Given the description of an element on the screen output the (x, y) to click on. 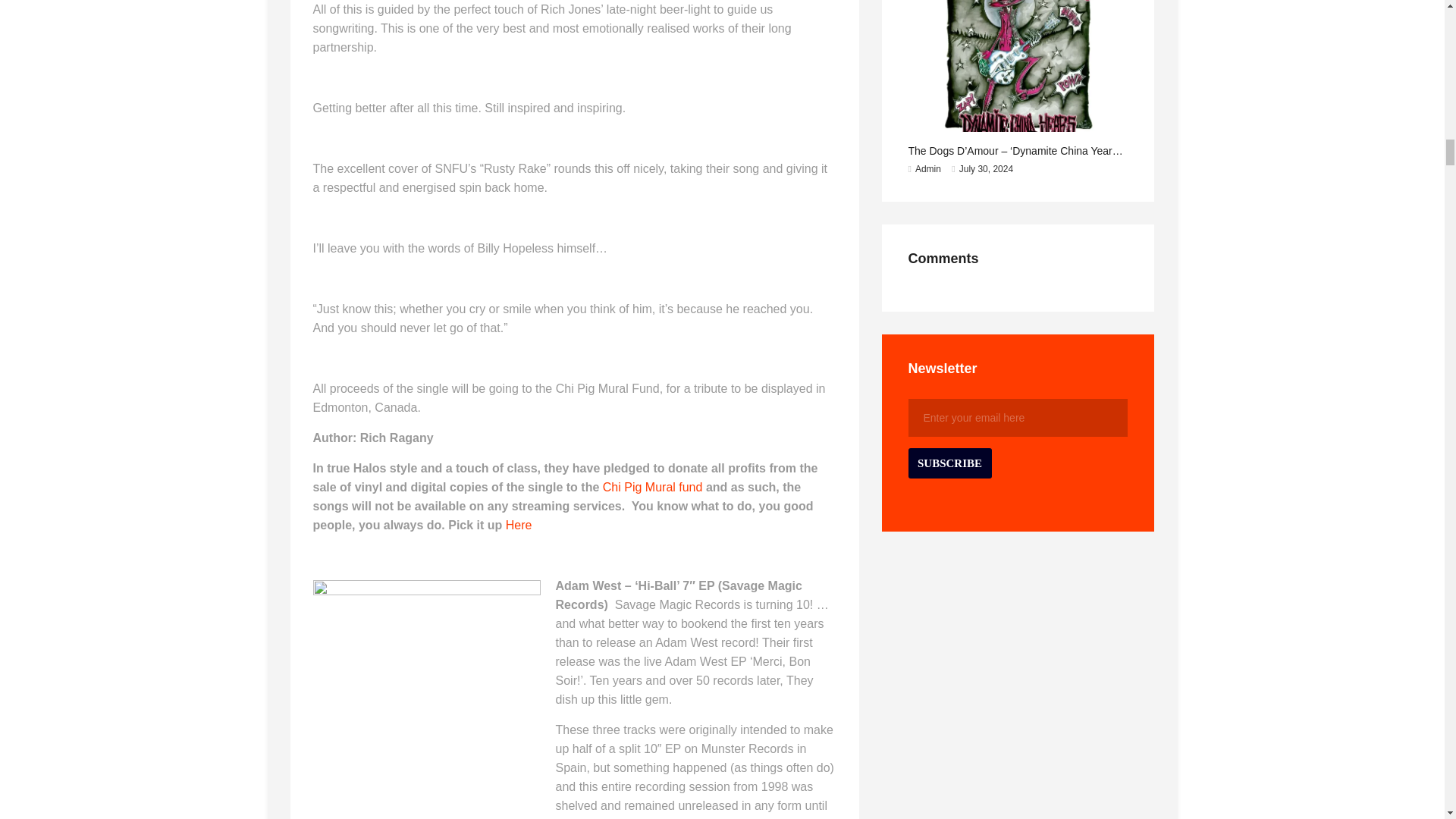
Subscribe (949, 462)
